Given the description of an element on the screen output the (x, y) to click on. 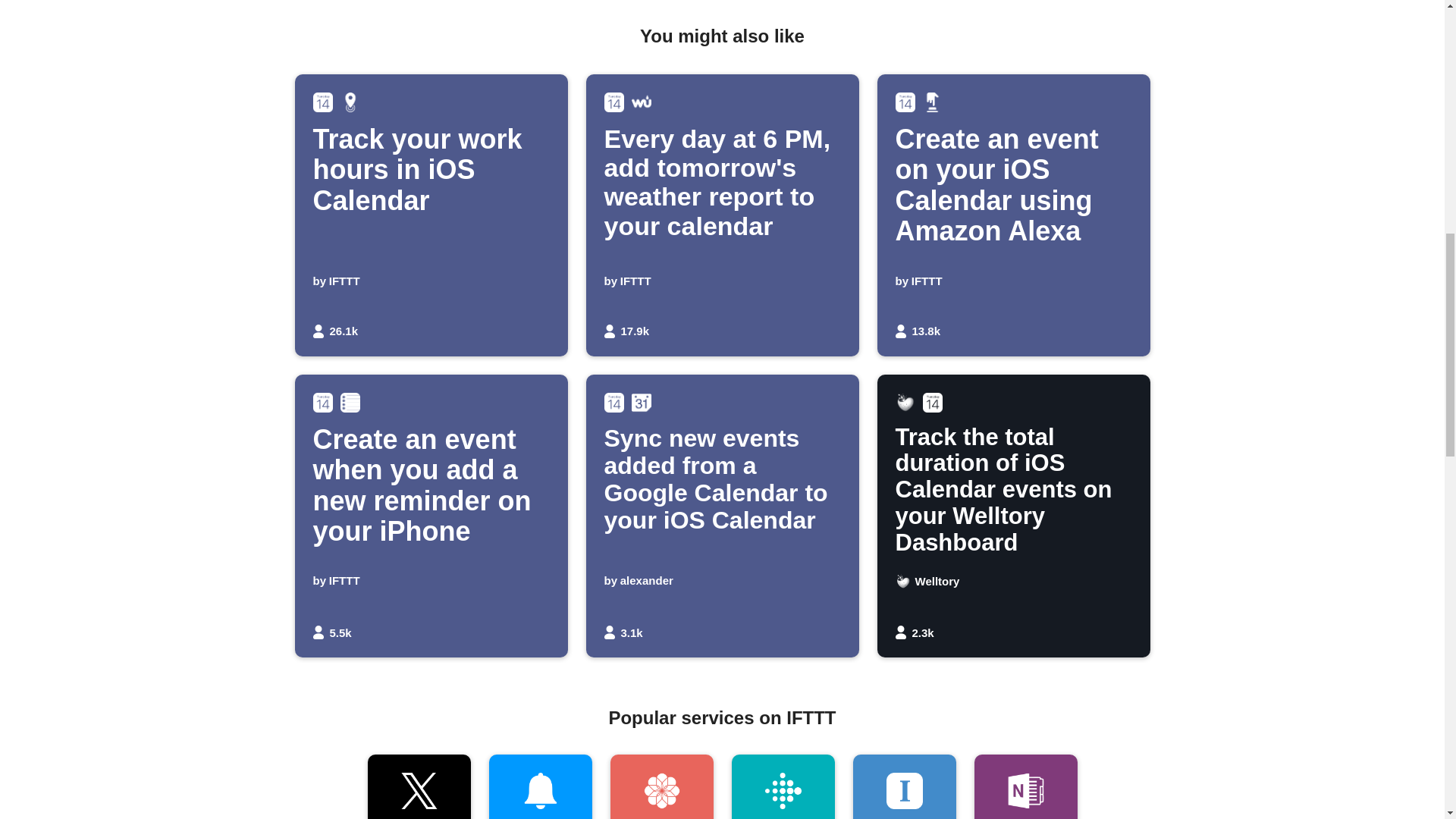
iOS Photos (430, 215)
Fitbit (661, 786)
OneNote (782, 786)
Notifications (1025, 786)
Instapaper (539, 786)
